Given the description of an element on the screen output the (x, y) to click on. 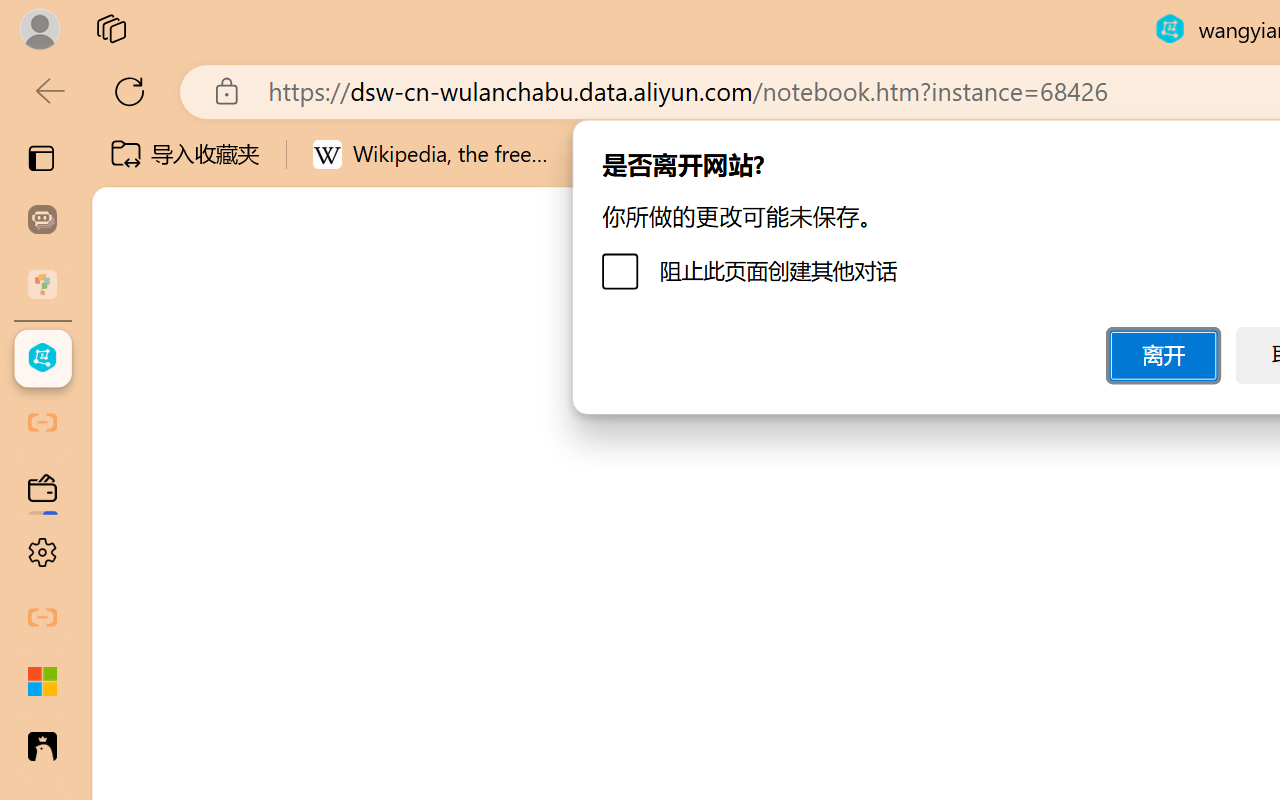
Application Menu (135, 358)
Microsoft security help and learning (42, 681)
Explorer (Ctrl+Shift+E) (135, 432)
